Given the description of an element on the screen output the (x, y) to click on. 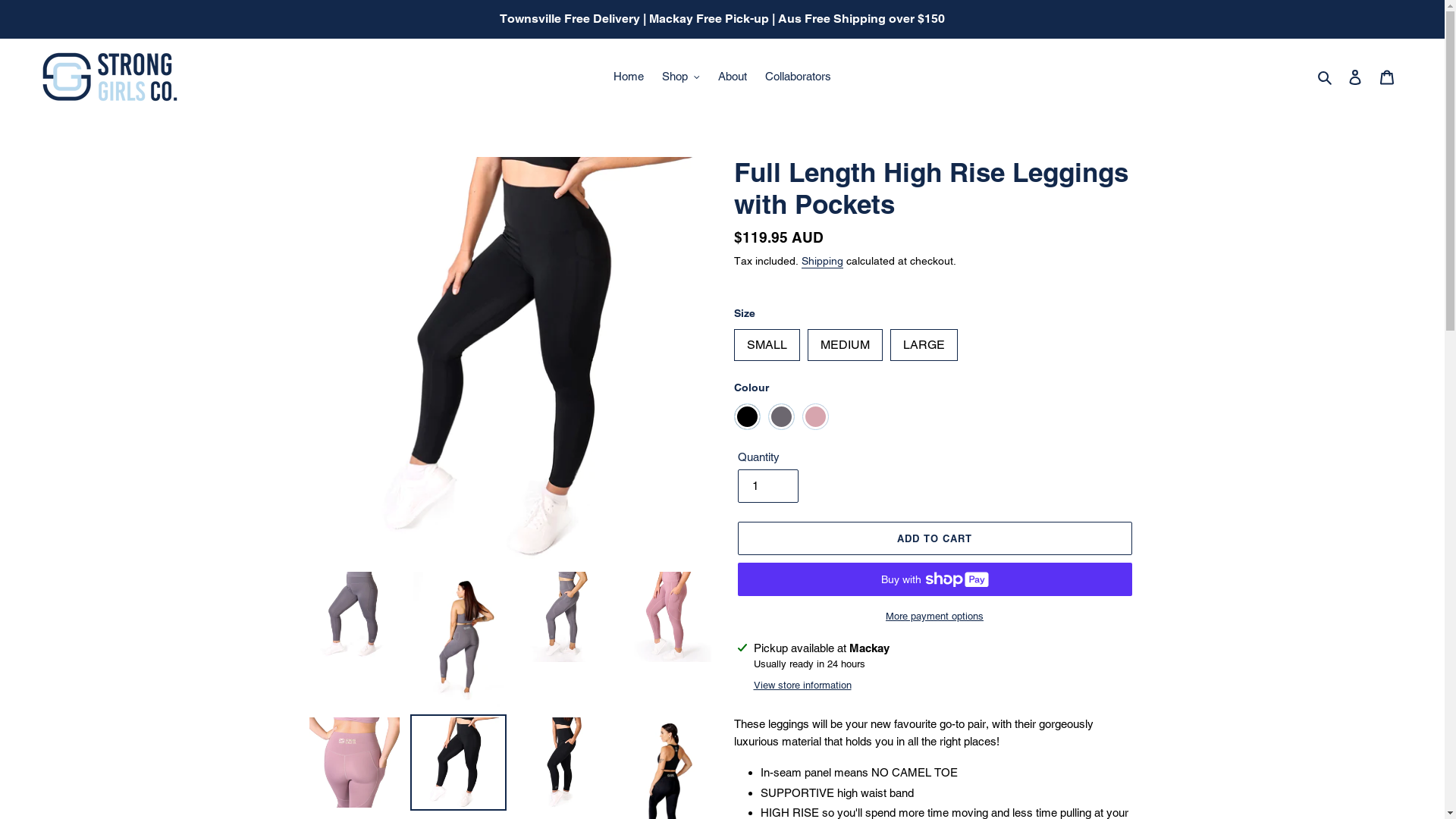
Search Element type: text (1325, 76)
Cart Element type: text (1386, 76)
More payment options Element type: text (934, 616)
Shipping Element type: text (821, 261)
Log in Element type: text (1355, 76)
View store information Element type: text (802, 685)
About Element type: text (732, 76)
Shop Element type: text (680, 76)
ADD TO CART Element type: text (934, 538)
Home Element type: text (628, 76)
Collaborators Element type: text (797, 76)
